Given the description of an element on the screen output the (x, y) to click on. 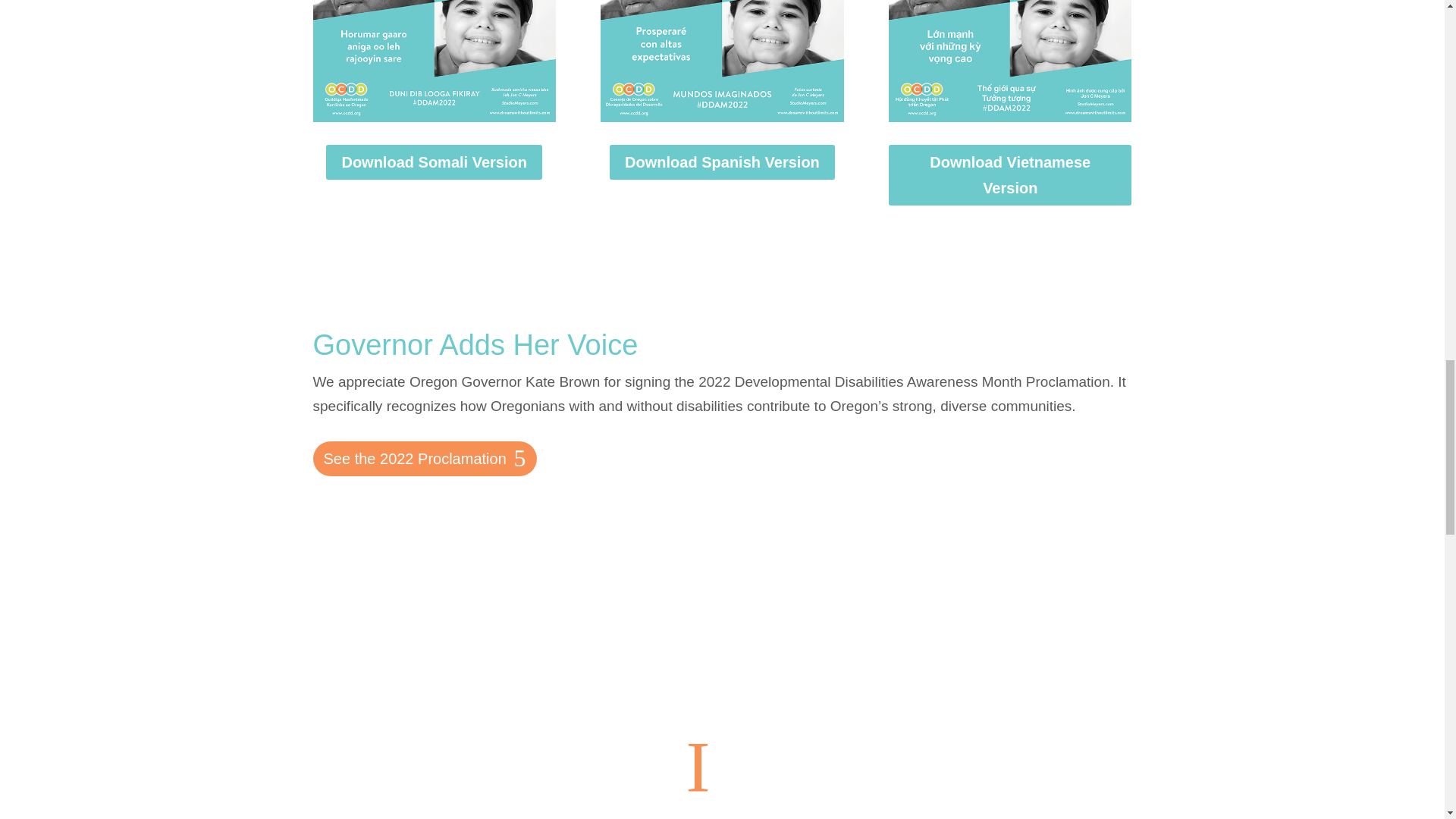
OCDD-DD-Awareness-Month-Poster-SO-220330 (433, 61)
OCDD-DD-Awareness-Month-Poster-VI-220330 (1009, 61)
OCDD-DD-Awareness-Month-Poster-SP-220330 (721, 61)
